Given the description of an element on the screen output the (x, y) to click on. 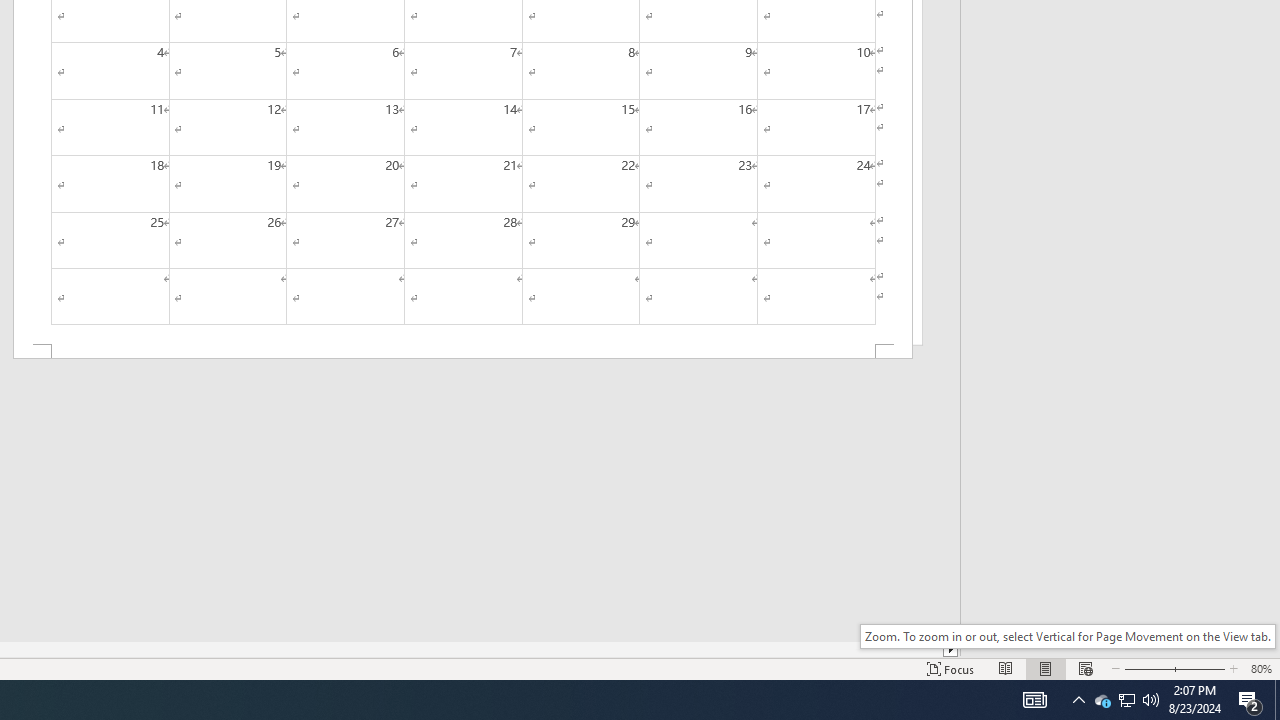
Footer -Section 2- (462, 351)
Column right (951, 649)
